Given the description of an element on the screen output the (x, y) to click on. 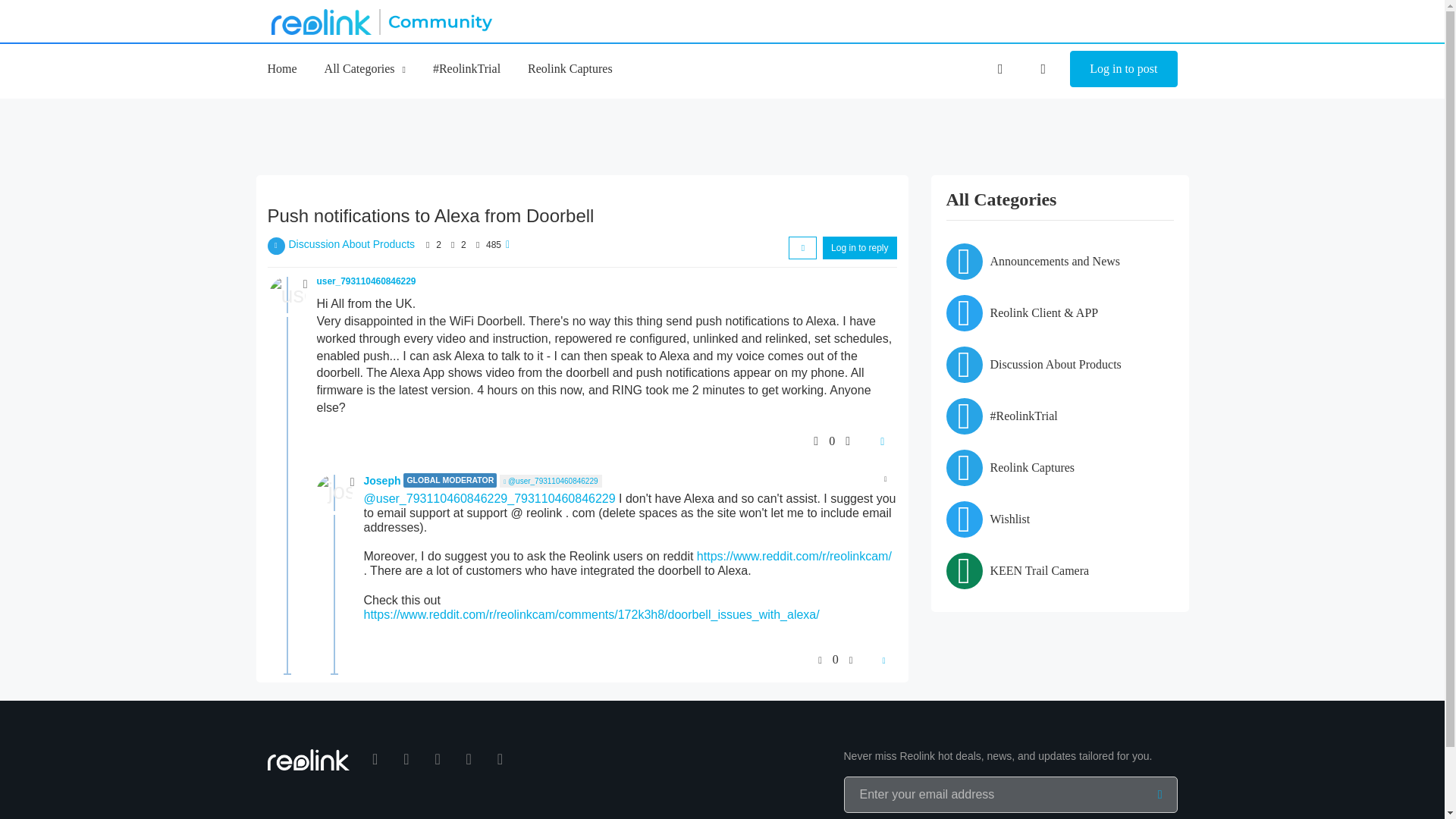
Home (281, 68)
All Categories (365, 68)
Posts (452, 244)
Log in to reply (859, 247)
Discussion About Products (351, 244)
Reolink Captures (569, 68)
Views (477, 244)
485 (493, 244)
Log in to post (1123, 68)
Posters (427, 244)
